Given the description of an element on the screen output the (x, y) to click on. 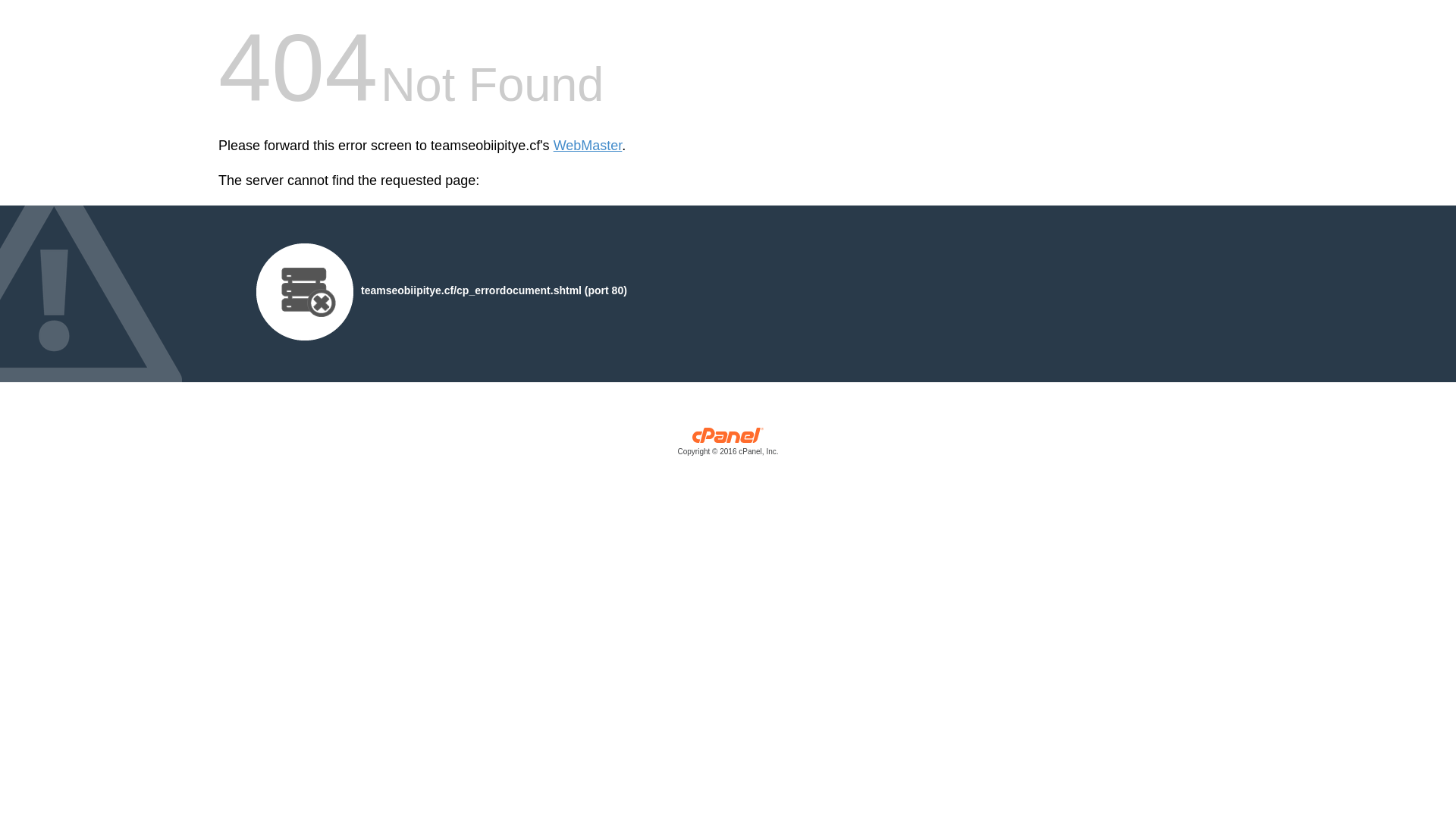
WebMaster Element type: text (587, 145)
